Given the description of an element on the screen output the (x, y) to click on. 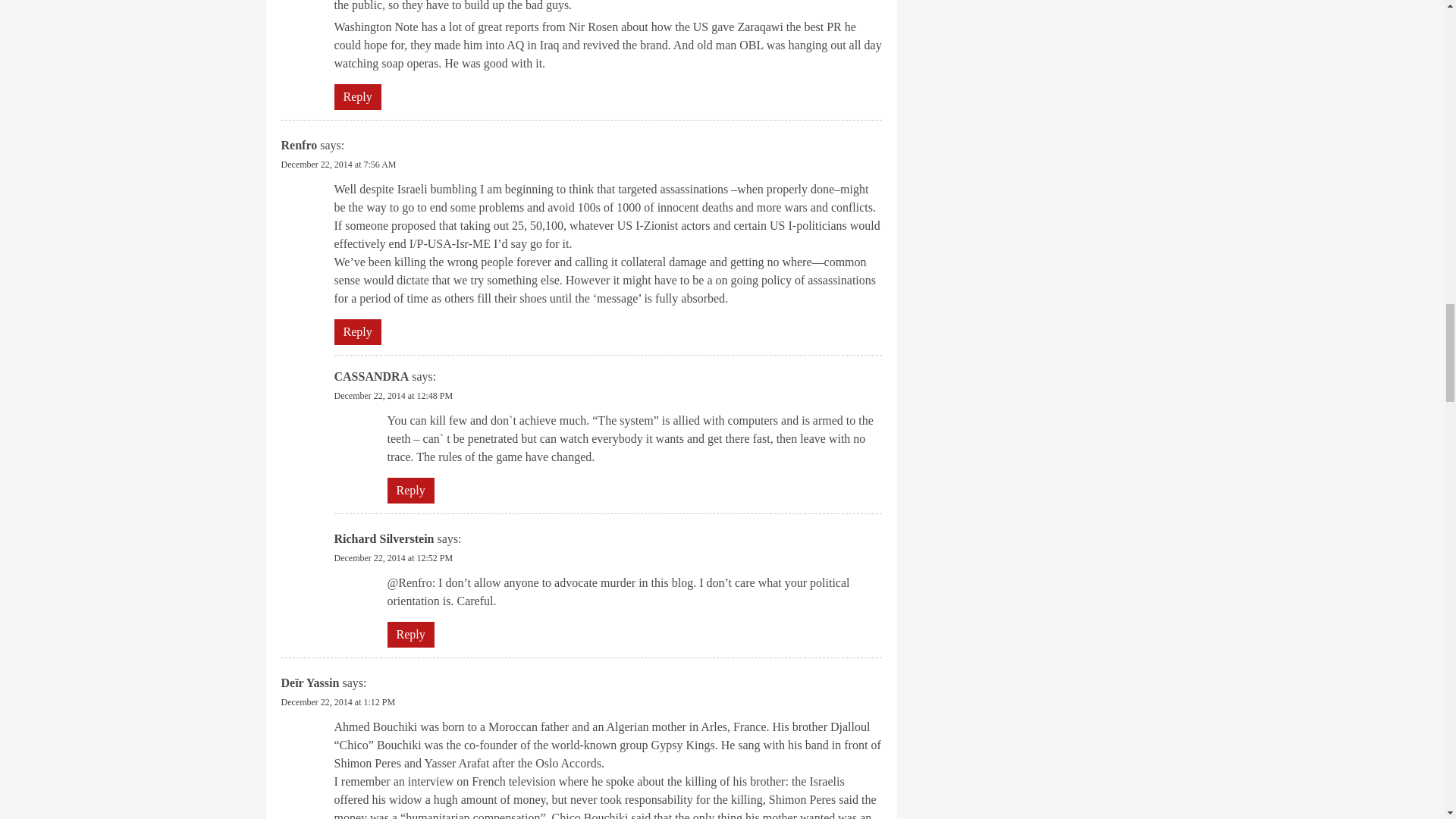
Reply (356, 96)
Reply (356, 331)
December 22, 2014 at 7:56 AM (338, 163)
Reply (410, 490)
December 22, 2014 at 12:48 PM (392, 395)
